Given the description of an element on the screen output the (x, y) to click on. 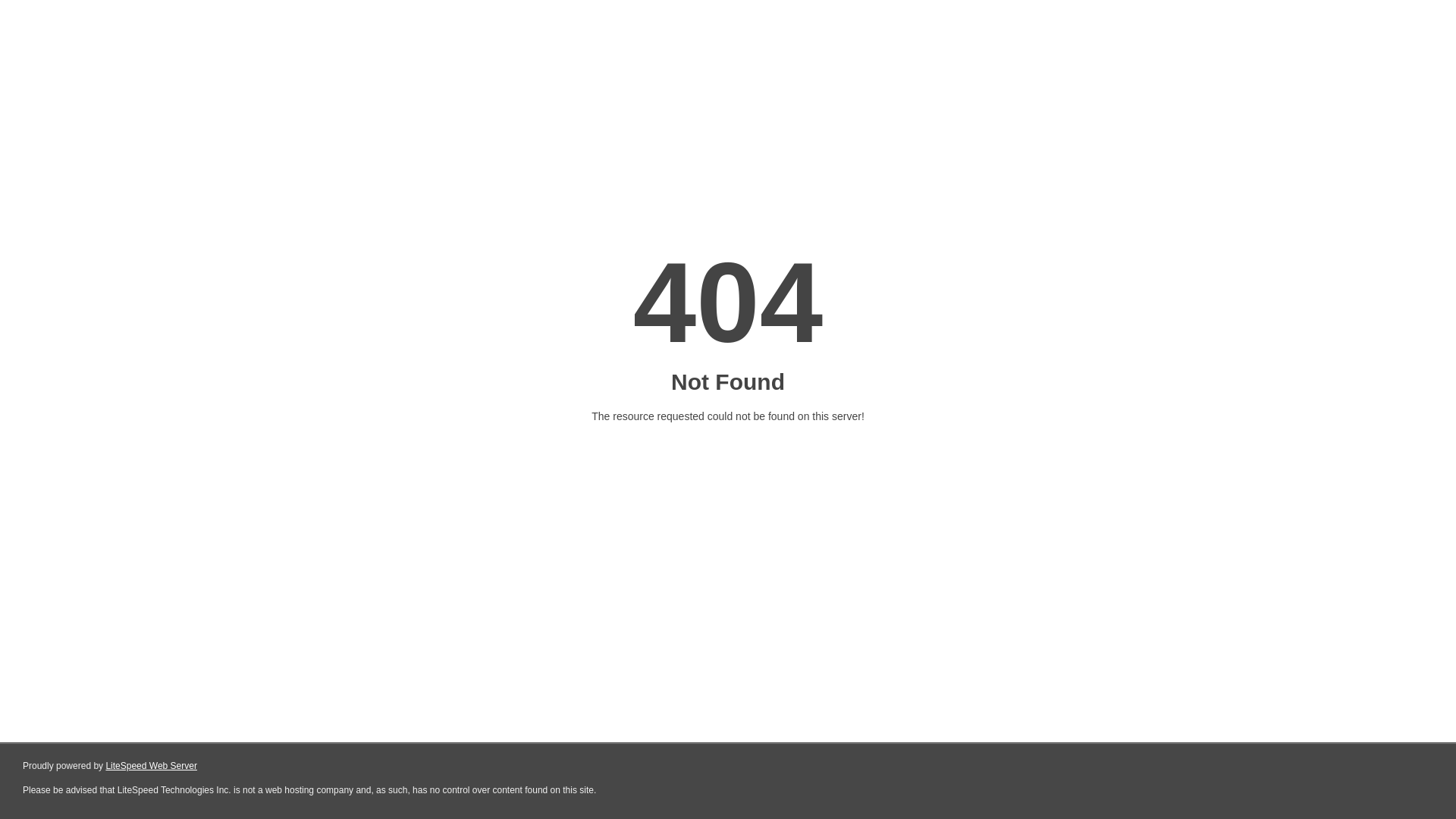
LiteSpeed Web Server Element type: text (151, 765)
